Given the description of an element on the screen output the (x, y) to click on. 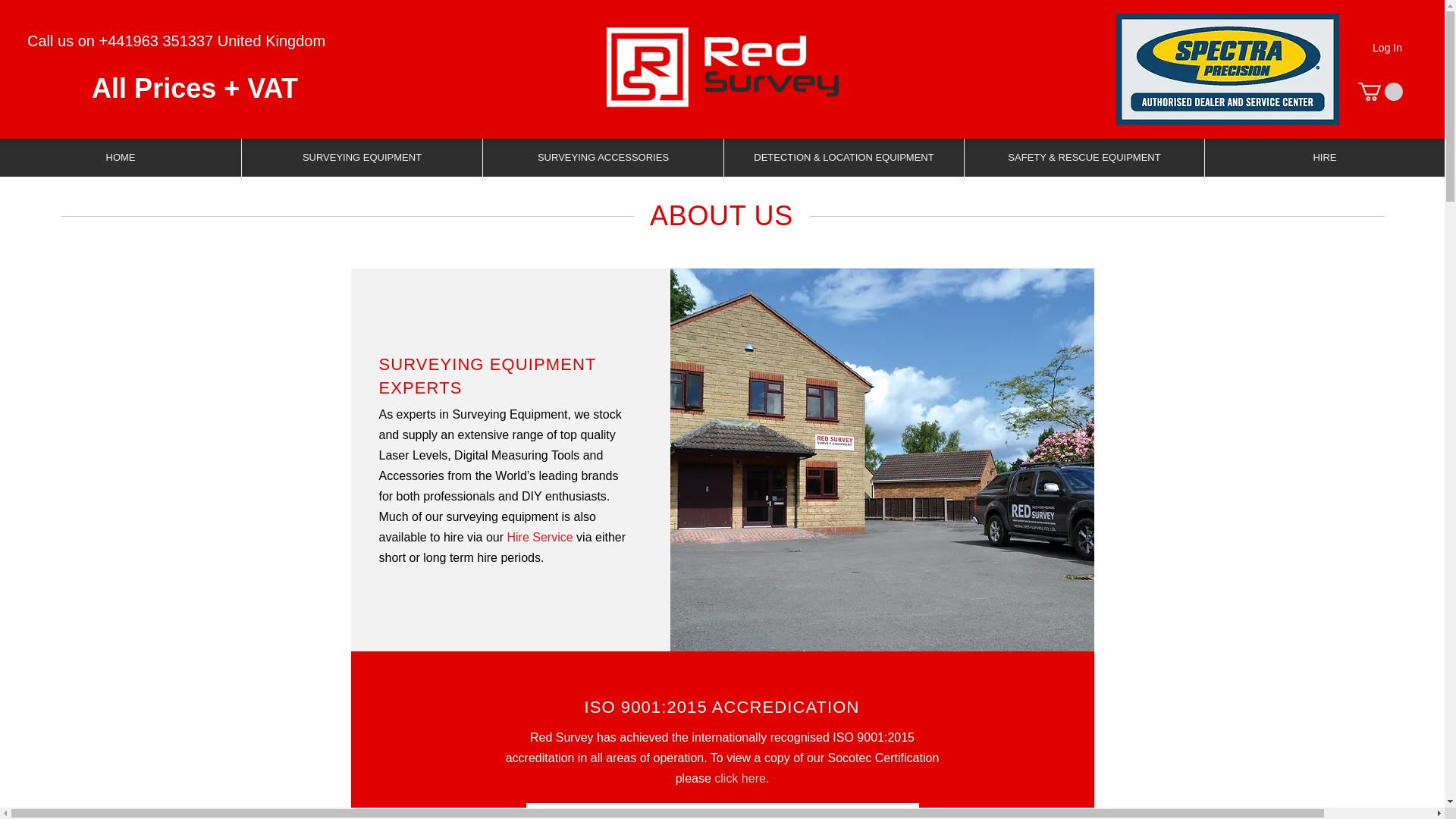
Home (377, 157)
SP2023-AuthorisedDealer-GB.jpg (1227, 69)
SURVEYING ACCESSORIES (602, 157)
click here (739, 778)
HOME (120, 157)
ABOUT US (427, 157)
SURVEYING EQUIPMENT (361, 157)
Hire Service (539, 536)
Log In (1386, 48)
